Given the description of an element on the screen output the (x, y) to click on. 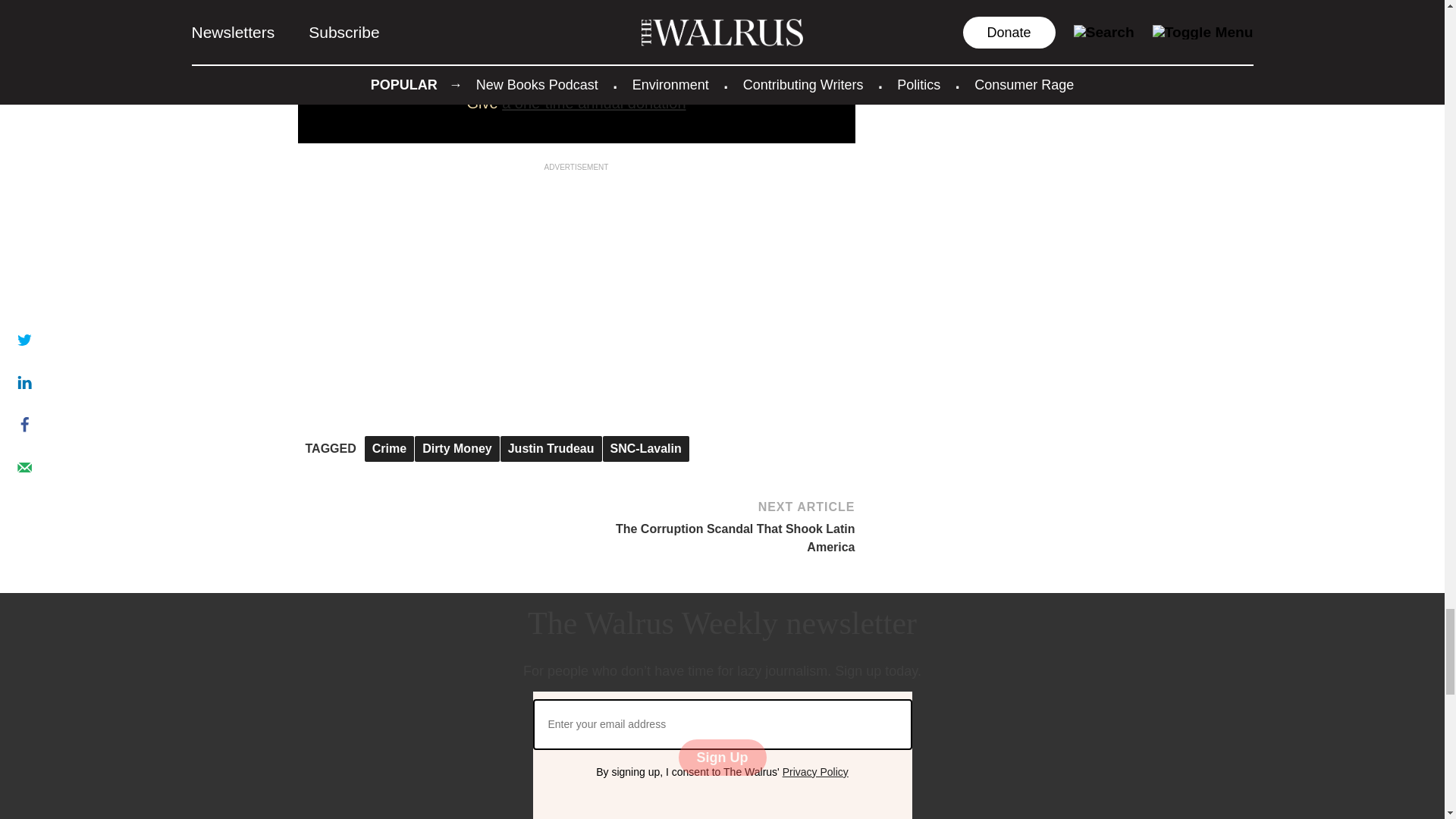
3rd party ad content (576, 268)
